Given the description of an element on the screen output the (x, y) to click on. 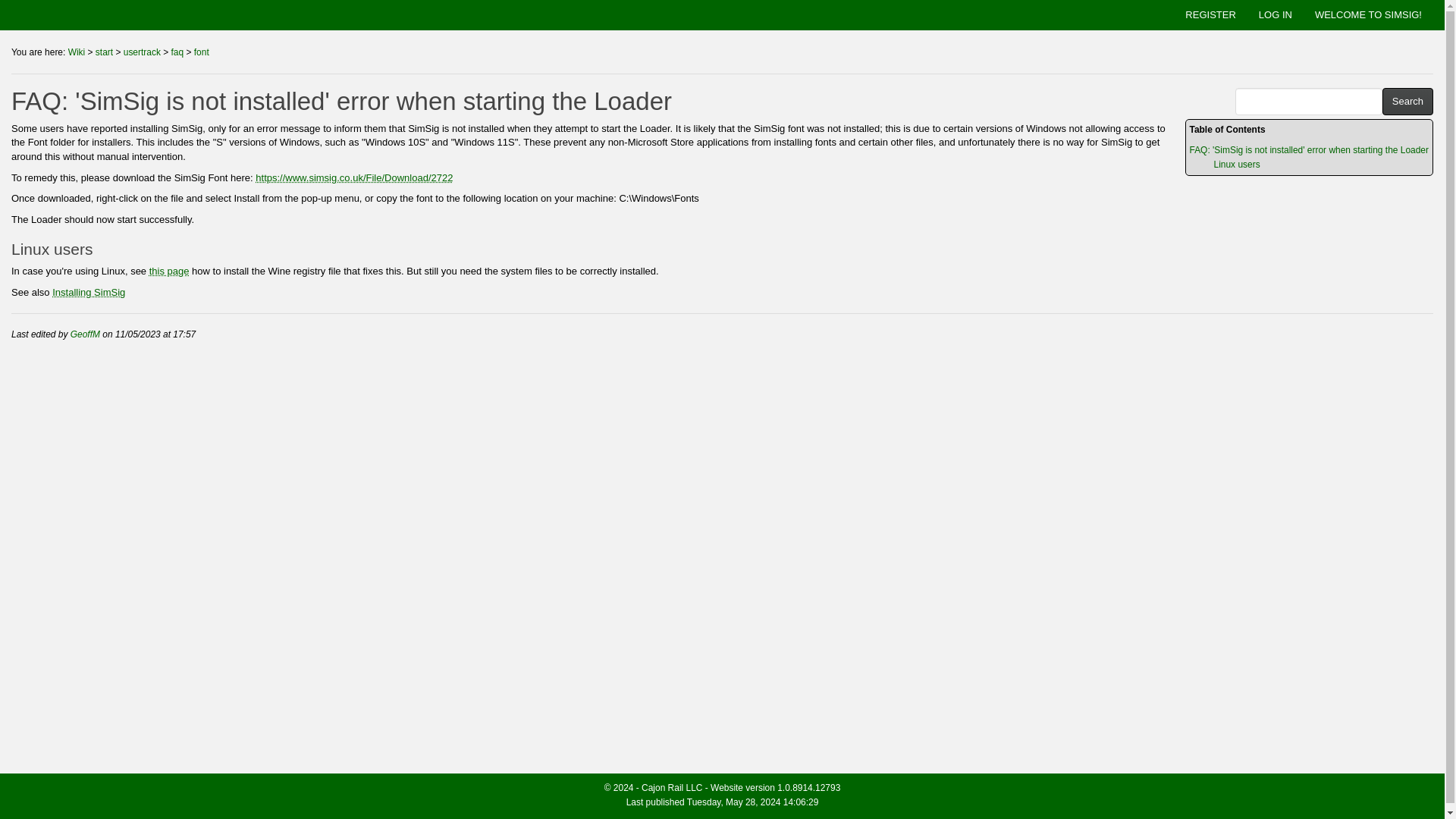
Wiki (76, 51)
LOG IN (1275, 15)
Search (1406, 101)
REGISTER (1209, 15)
WELCOME TO SIMSIG! (1367, 15)
